Given the description of an element on the screen output the (x, y) to click on. 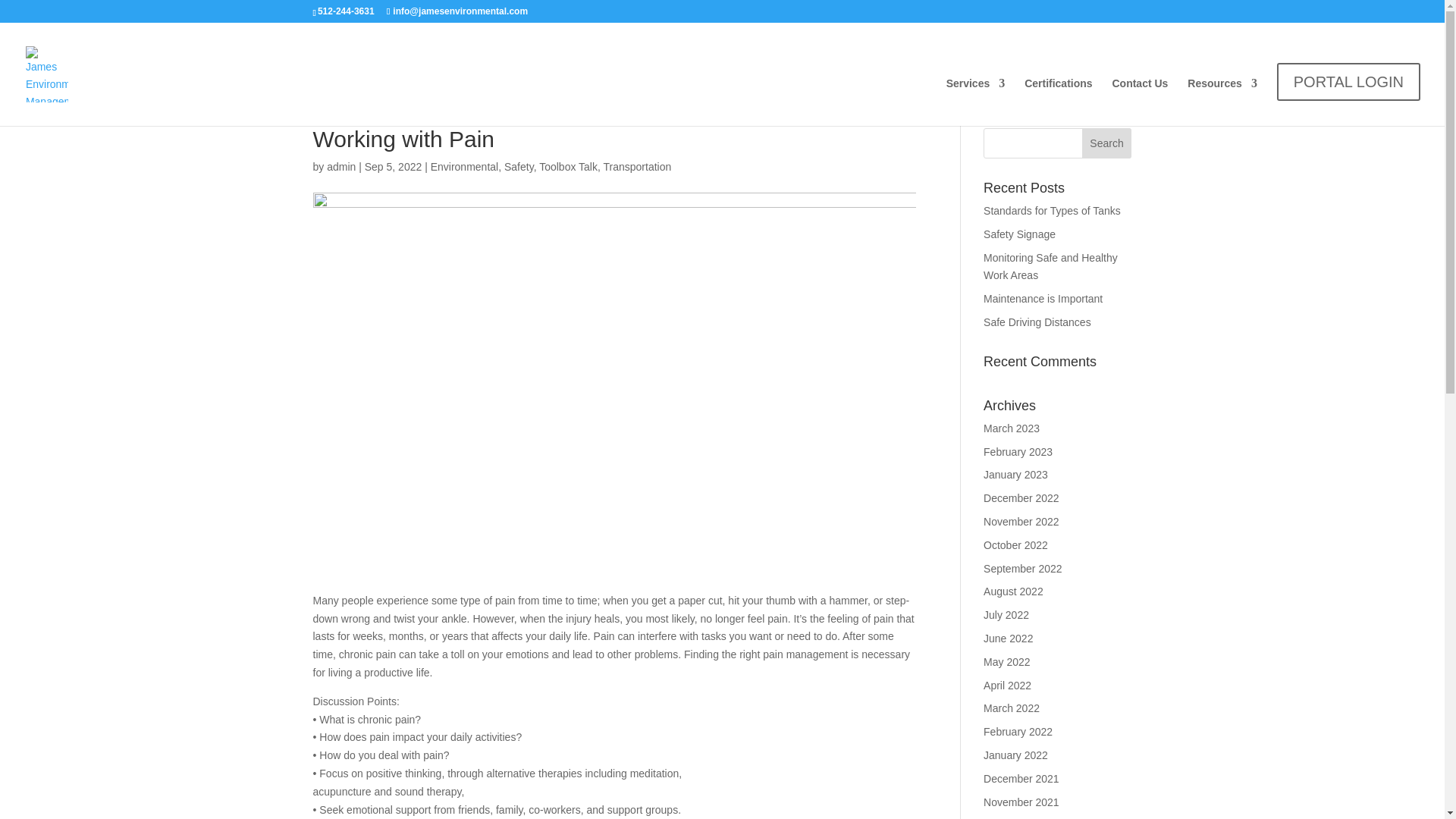
Transportation (636, 166)
Toolbox Talk (567, 166)
Safety (518, 166)
September 2022 (1023, 568)
Search (1106, 142)
Certifications (1058, 95)
January 2022 (1016, 755)
January 2023 (1016, 474)
Resources (1222, 95)
April 2022 (1007, 685)
December 2021 (1021, 778)
May 2022 (1006, 662)
February 2023 (1018, 451)
Services (976, 95)
PORTAL LOGIN (1348, 86)
